Given the description of an element on the screen output the (x, y) to click on. 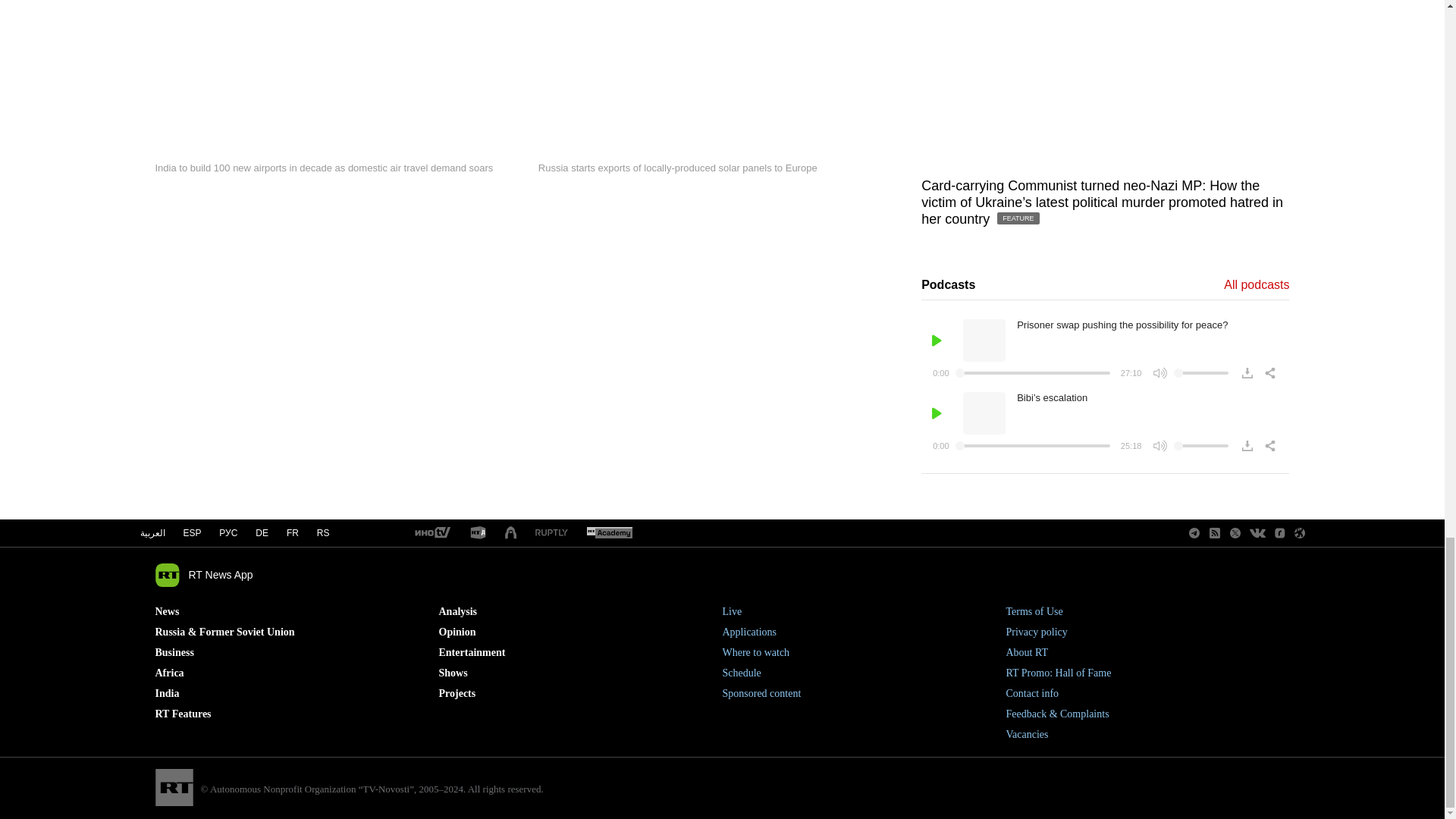
RT  (431, 533)
RT  (478, 533)
RT  (608, 533)
RT  (551, 533)
